Given the description of an element on the screen output the (x, y) to click on. 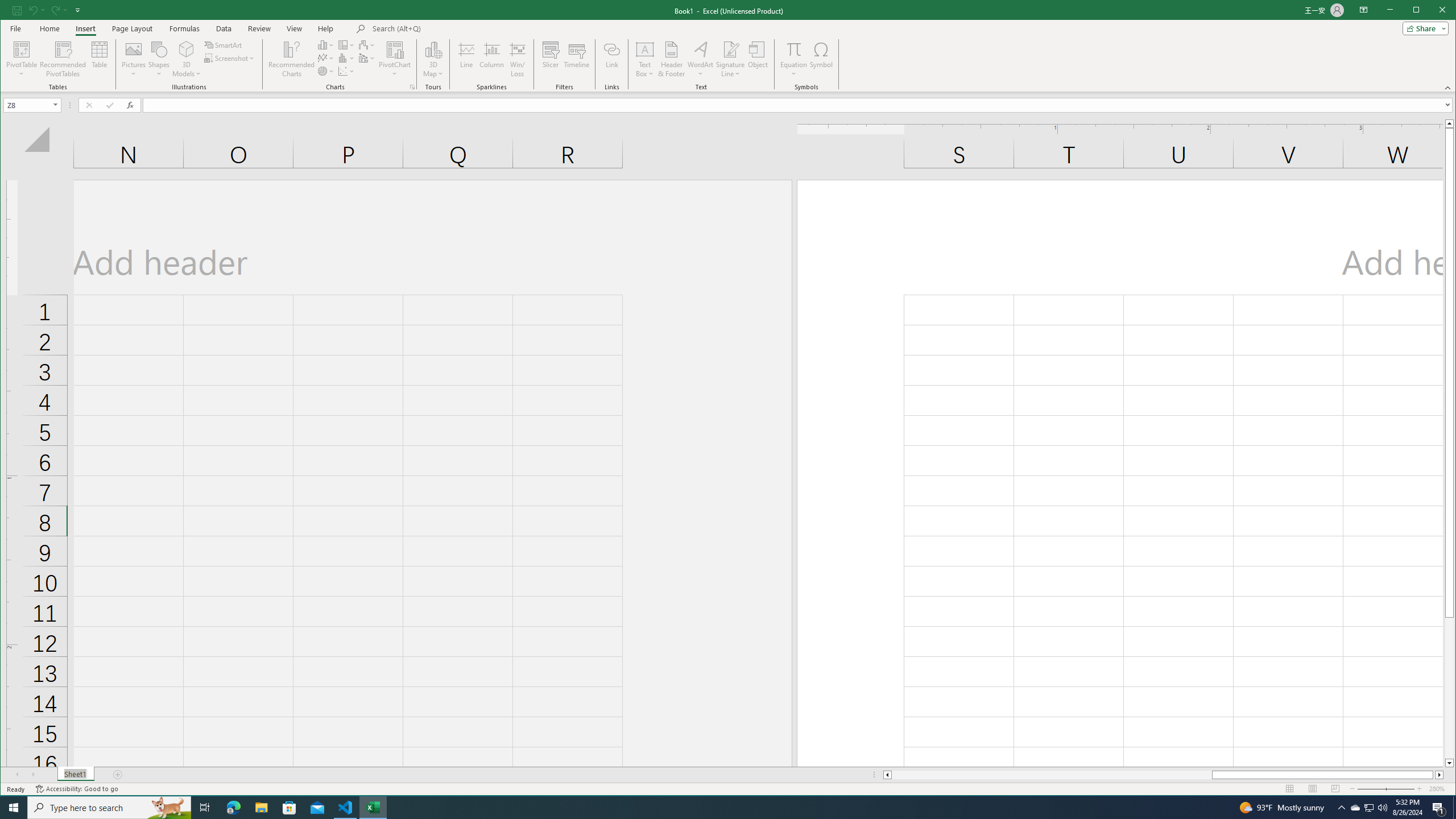
Insert Line or Area Chart (325, 57)
Insert Waterfall, Funnel, Stock, Surface, or Radar Chart (366, 44)
Show desktop (1454, 807)
PivotTable (22, 48)
